Given the description of an element on the screen output the (x, y) to click on. 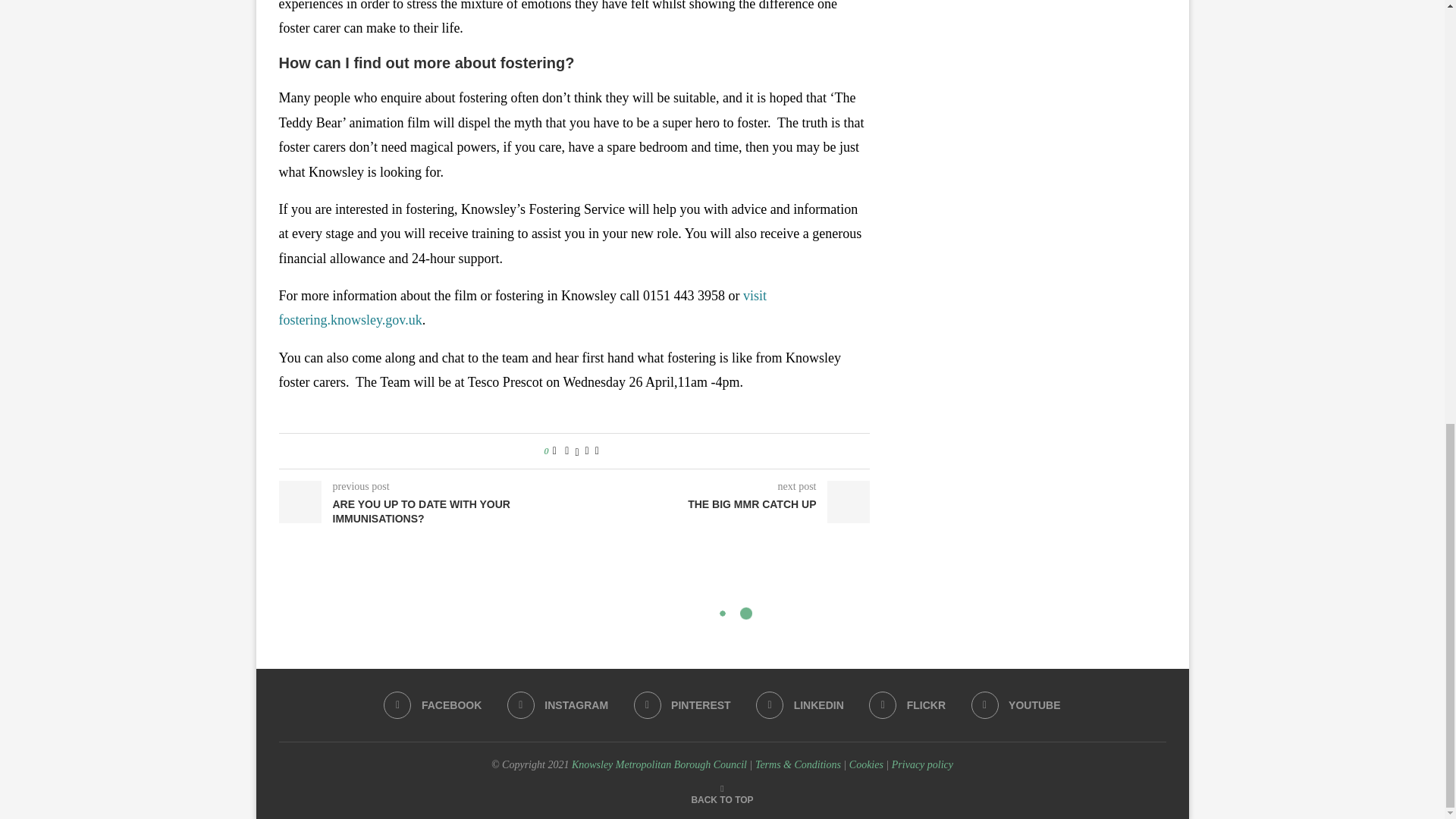
LINKEDIN (799, 705)
INSTAGRAM (557, 705)
Privacy policy (922, 764)
BACK TO TOP (721, 799)
FLICKR (906, 705)
FACEBOOK (432, 705)
visit fostering.knowsley.gov.uk (523, 307)
PINTEREST (681, 705)
THE BIG MMR CATCH UP (722, 504)
Knowsley Metropolitan Borough Council (659, 764)
